Given the description of an element on the screen output the (x, y) to click on. 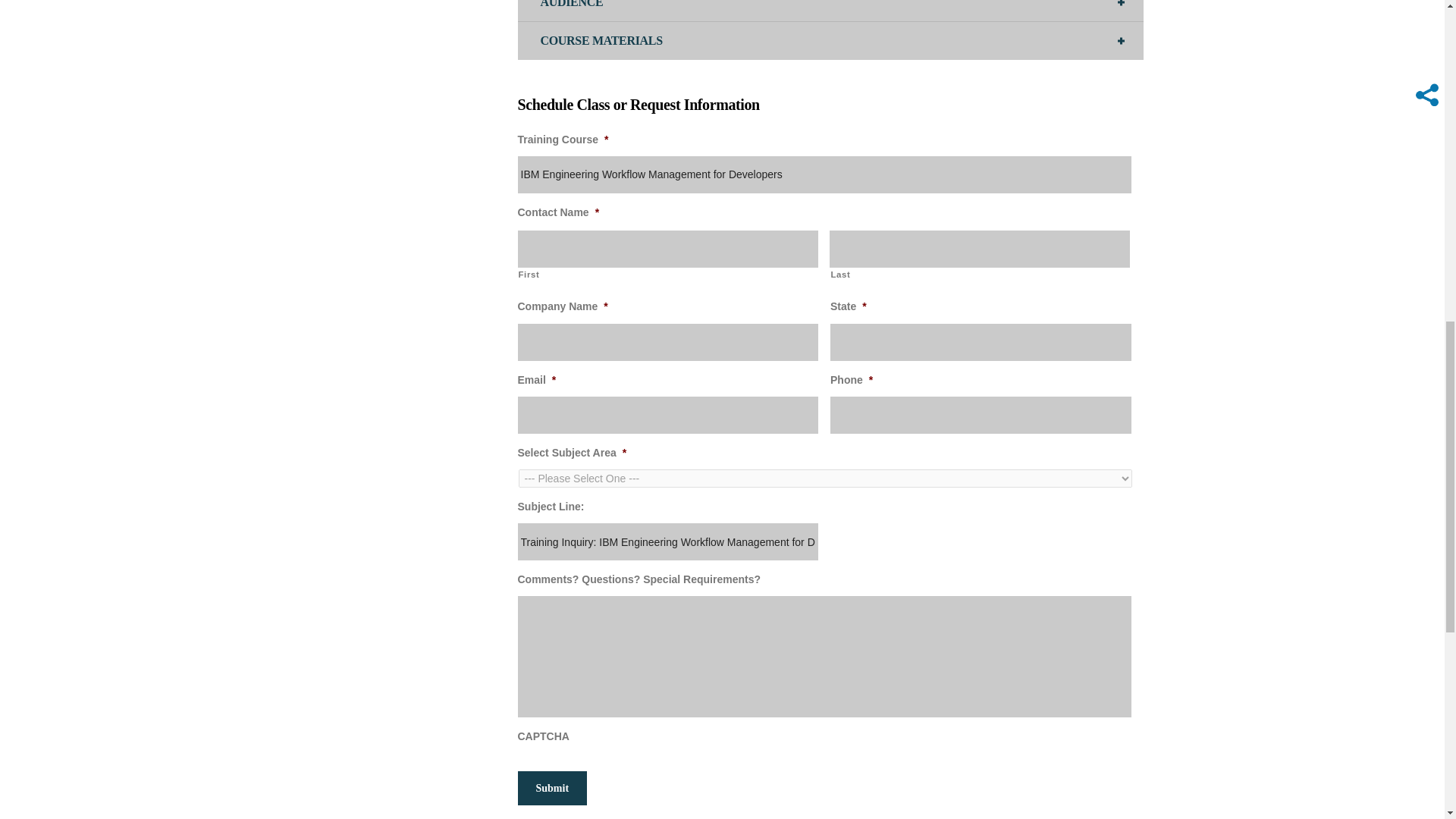
Submit (551, 788)
IBM Engineering Workflow Management for Developers (823, 174)
